Given the description of an element on the screen output the (x, y) to click on. 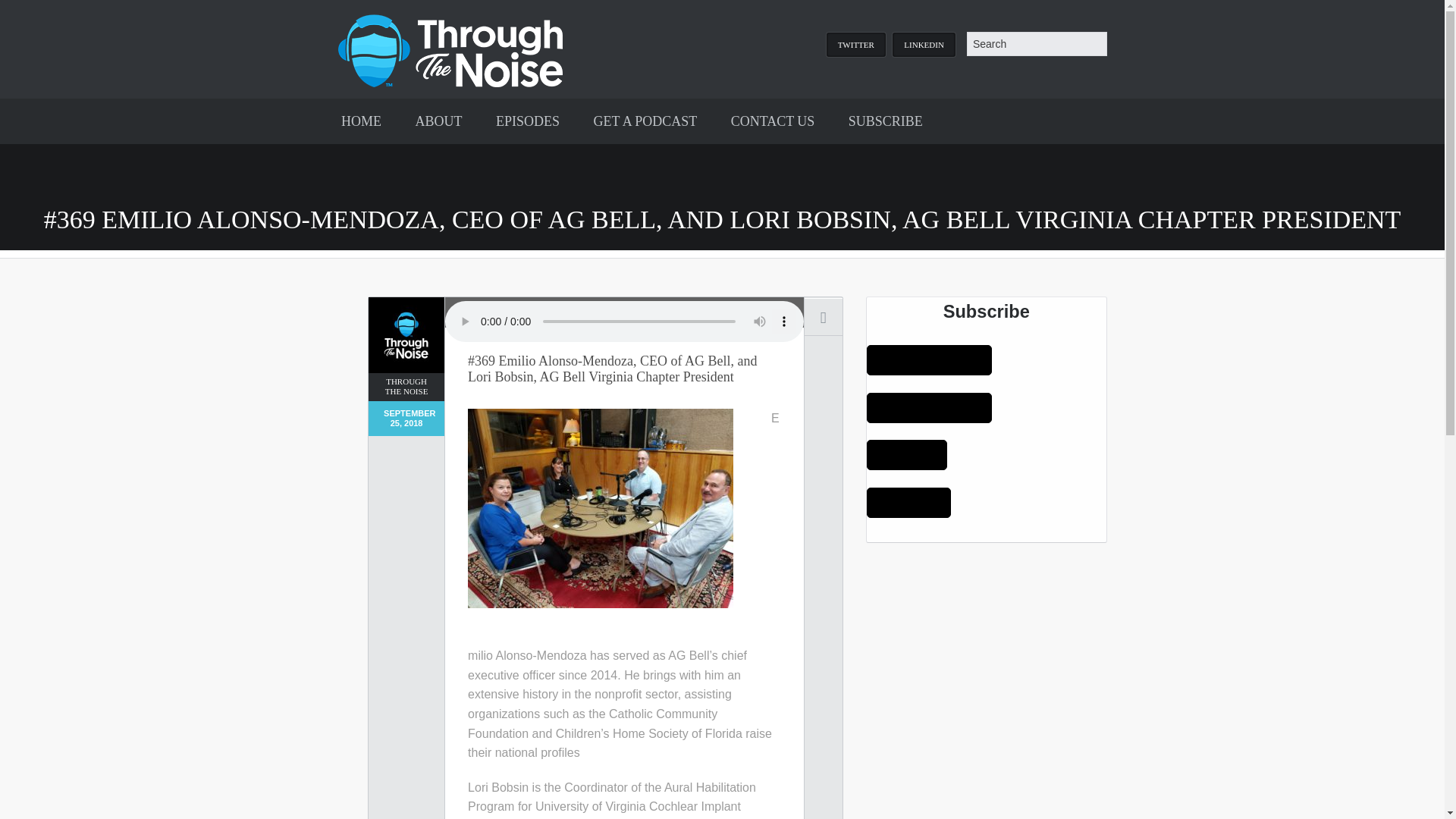
Listen on Google Podcasts (928, 408)
ABOUT (438, 121)
Listen on Stitcher (908, 502)
Listen on Spotify (906, 454)
HOME (361, 121)
GET A PODCAST (644, 121)
TWITTER (856, 44)
CONTACT US (772, 121)
LINKEDIN (923, 44)
SUBSCRIBE (884, 121)
Listen on Apple Podcasts (928, 359)
EPISODES (527, 121)
Through the Noise (450, 47)
Search (25, 9)
Search (1036, 43)
